Given the description of an element on the screen output the (x, y) to click on. 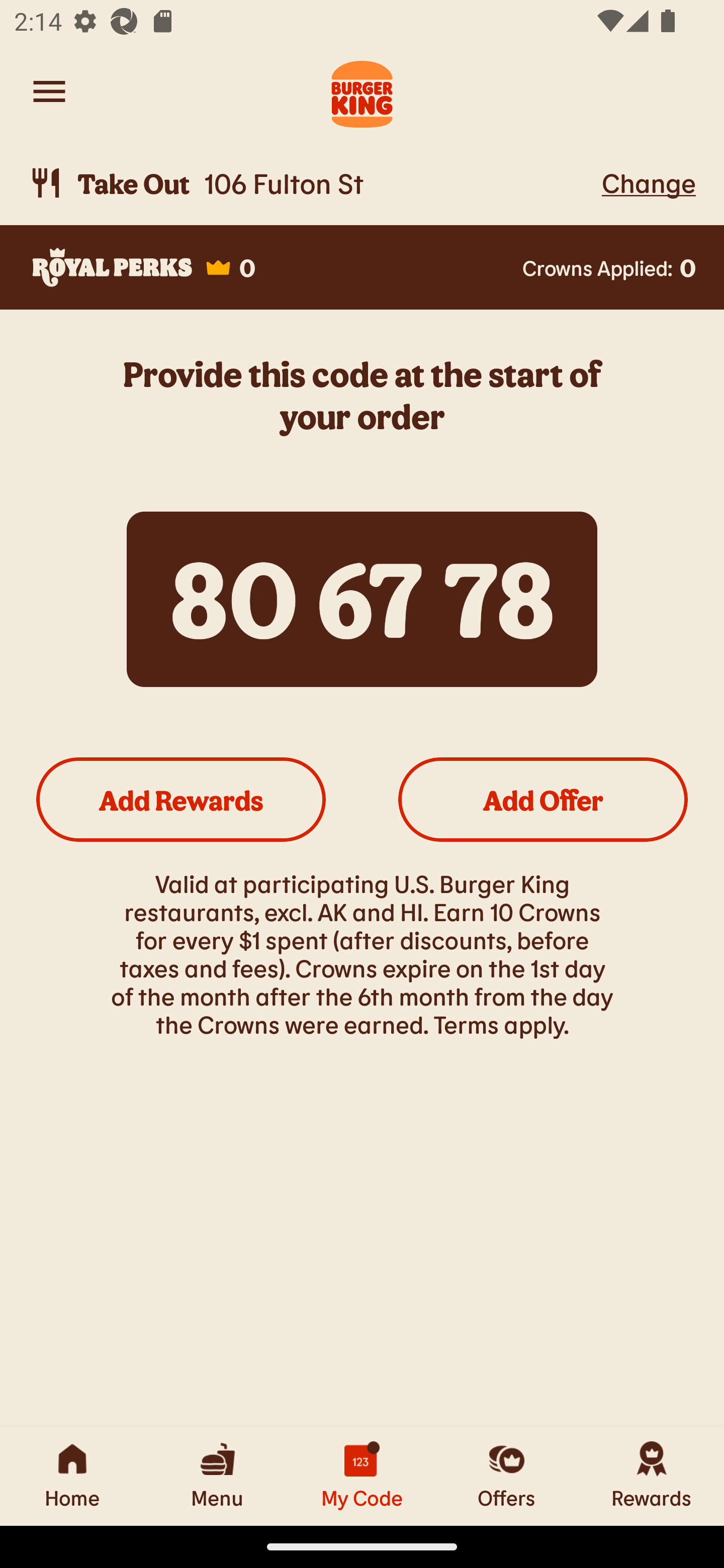
Burger King Logo. Navigate to Home (362, 91)
Navigate to account menu  (49, 91)
Take Out, 106 Fulton St  Take Out 106 Fulton St (311, 183)
Change (648, 182)
Add Rewards (180, 799)
Add Offer (542, 799)
Home (72, 1475)
Menu (216, 1475)
My Code (361, 1475)
Offers (506, 1475)
Rewards (651, 1475)
